Given the description of an element on the screen output the (x, y) to click on. 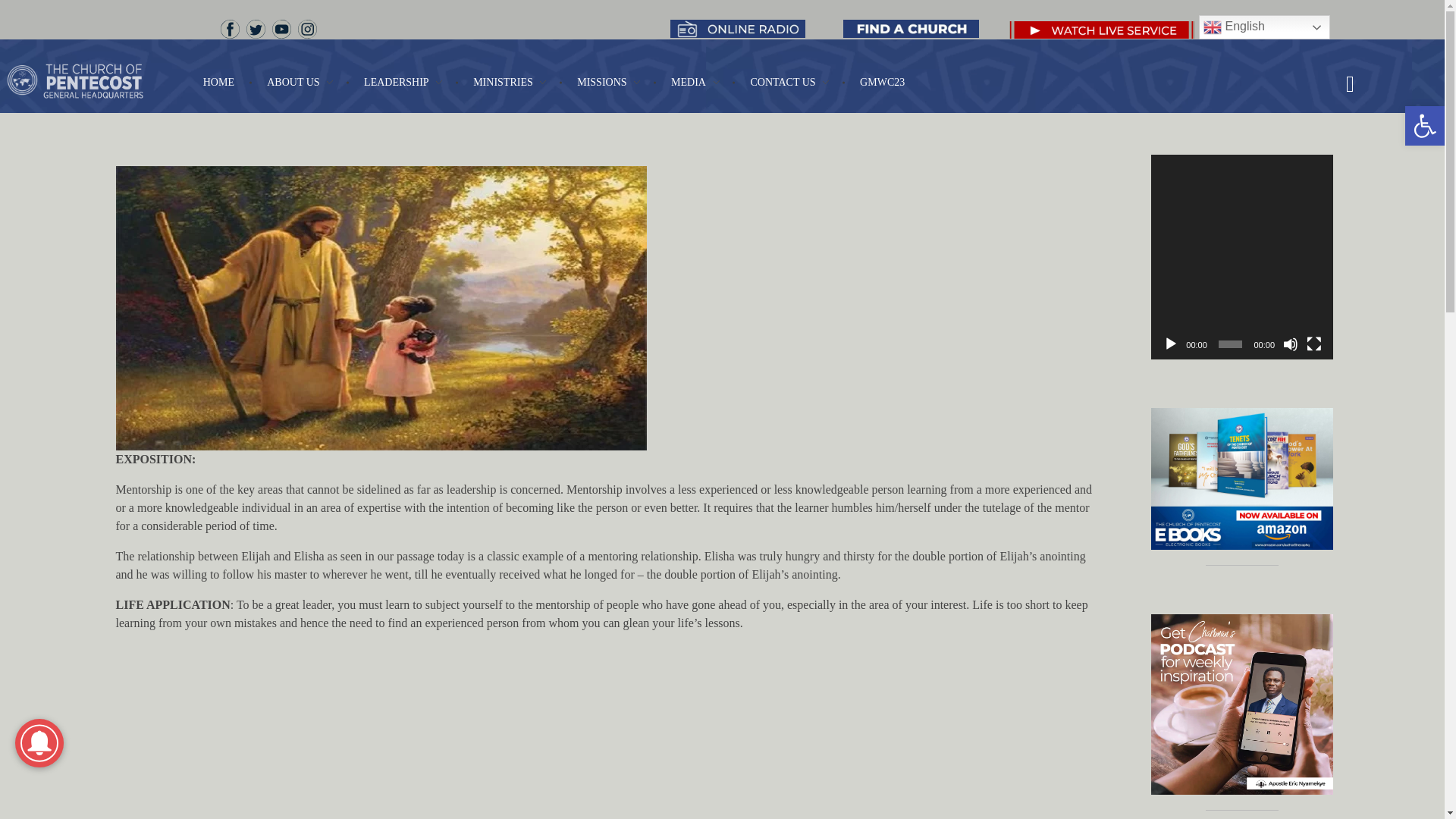
THE CHURCH OF PENTECOST (133, 116)
ABOUT US (301, 82)
THE CHURCH OF PENTECOST (101, 80)
HOME (228, 82)
Accessibility Tools (1424, 125)
English (1264, 27)
